Given the description of an element on the screen output the (x, y) to click on. 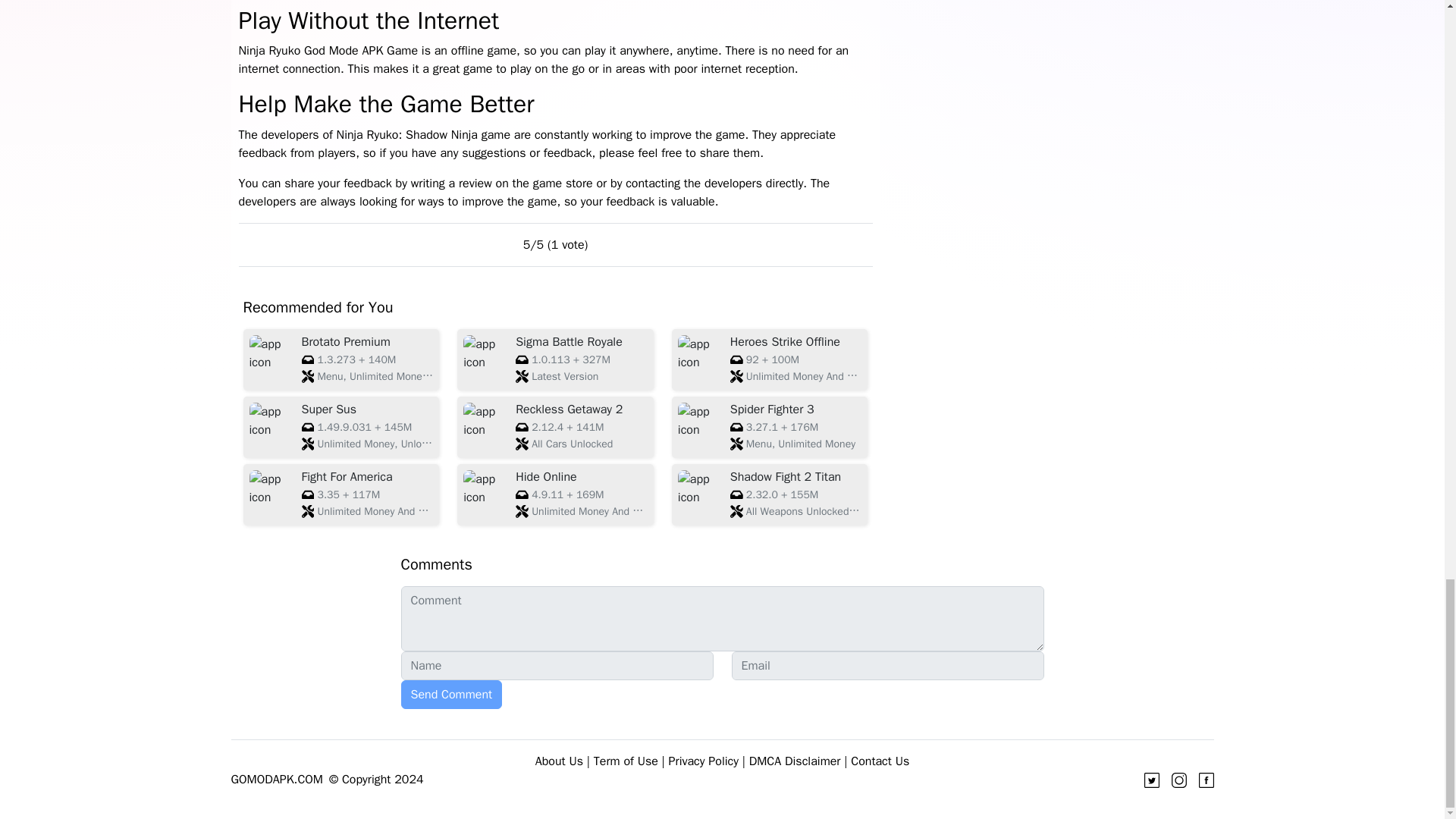
Send Comment (451, 694)
Privacy Policy (703, 761)
About Us (559, 761)
Contact Us (879, 761)
GOMODAPK.COM (275, 779)
Term of Use (626, 761)
DMCA Disclaimer (795, 761)
